Given the description of an element on the screen output the (x, y) to click on. 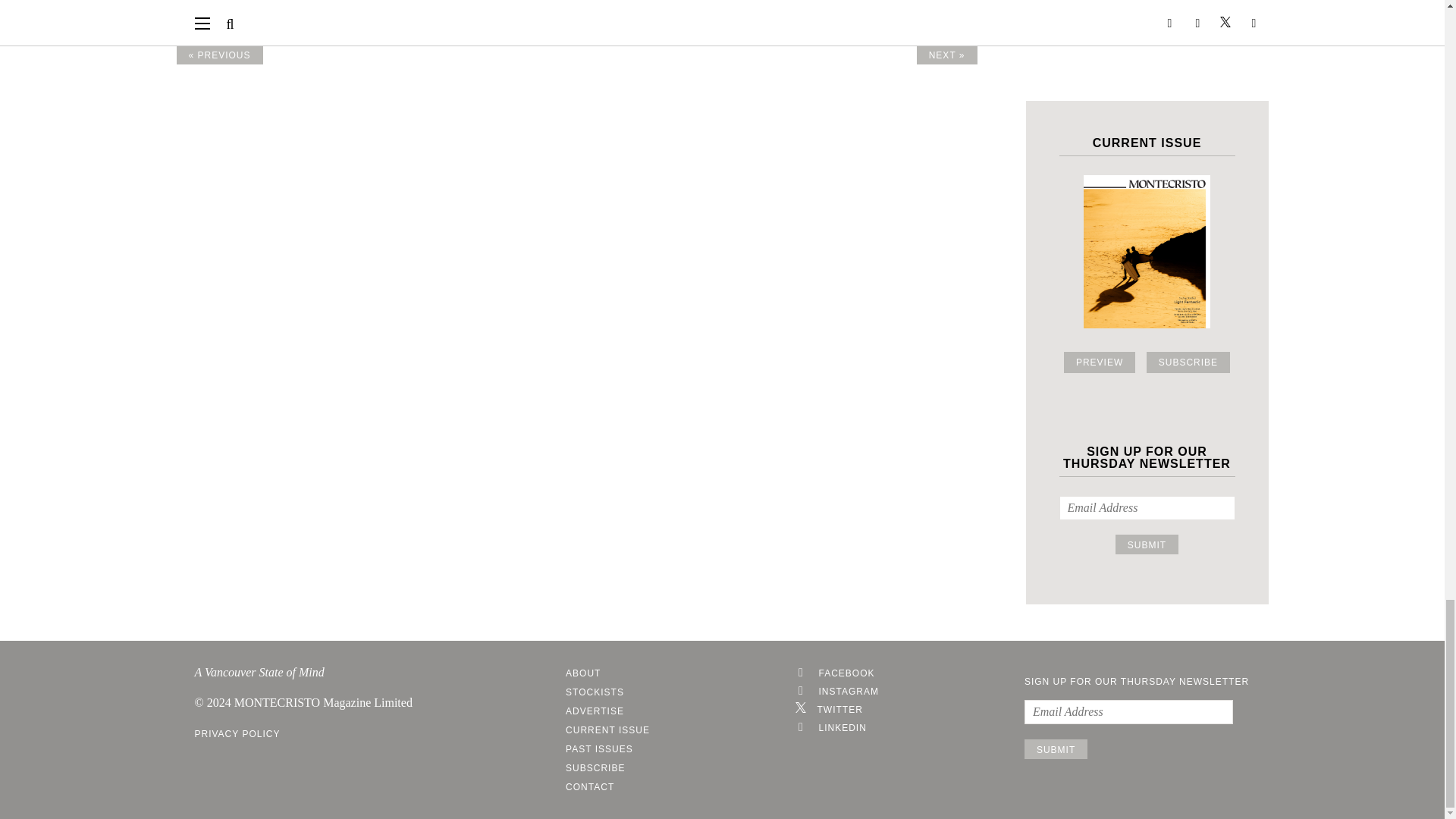
SUBMIT (1056, 749)
SUBMIT (1146, 544)
